Given the description of an element on the screen output the (x, y) to click on. 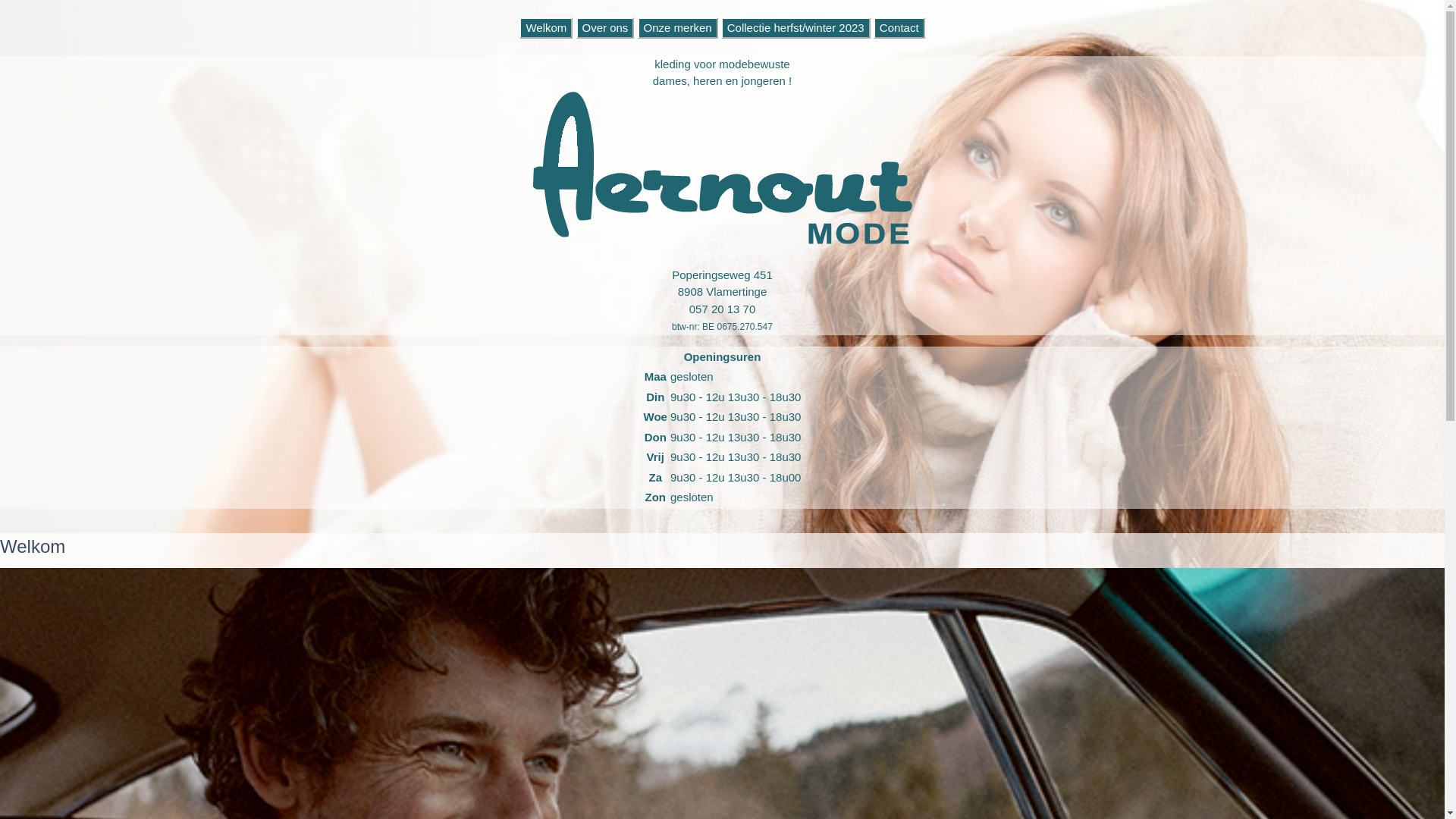
Onze merken Element type: text (677, 27)
Over ons Element type: text (605, 27)
Collectie herfst/winter 2023 Element type: text (795, 27)
Onze merken Element type: text (677, 27)
Welkom Element type: text (545, 27)
Contact Element type: text (899, 27)
Collectie herfst/winter 2023 Element type: text (795, 27)
Welkom Element type: text (545, 27)
Contact Element type: text (899, 27)
Over ons Element type: text (605, 27)
